Given the description of an element on the screen output the (x, y) to click on. 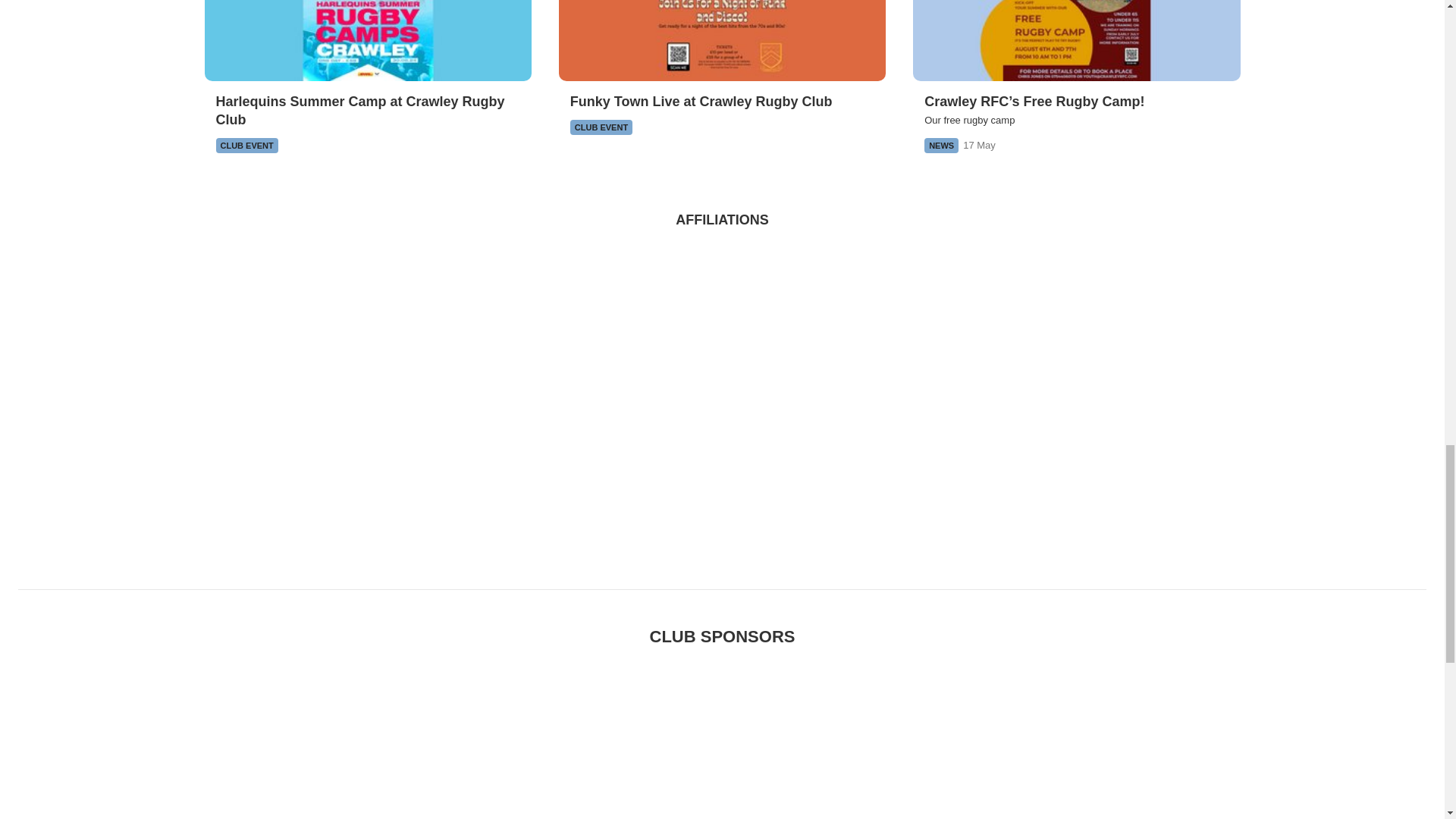
Gold - Ice Club (247, 737)
Bronze - McDonald's (1194, 737)
Gold - Greenaway Residential (563, 737)
Silver - DH Electrical (722, 737)
Bronze - Network Blinds (879, 737)
Platinum - AF Scaffolding (90, 737)
Gold - Technetix (406, 737)
Club Sponsor - Benchmark Reprographics (1352, 737)
Bronze - Energie Fitness (1036, 737)
